Given the description of an element on the screen output the (x, y) to click on. 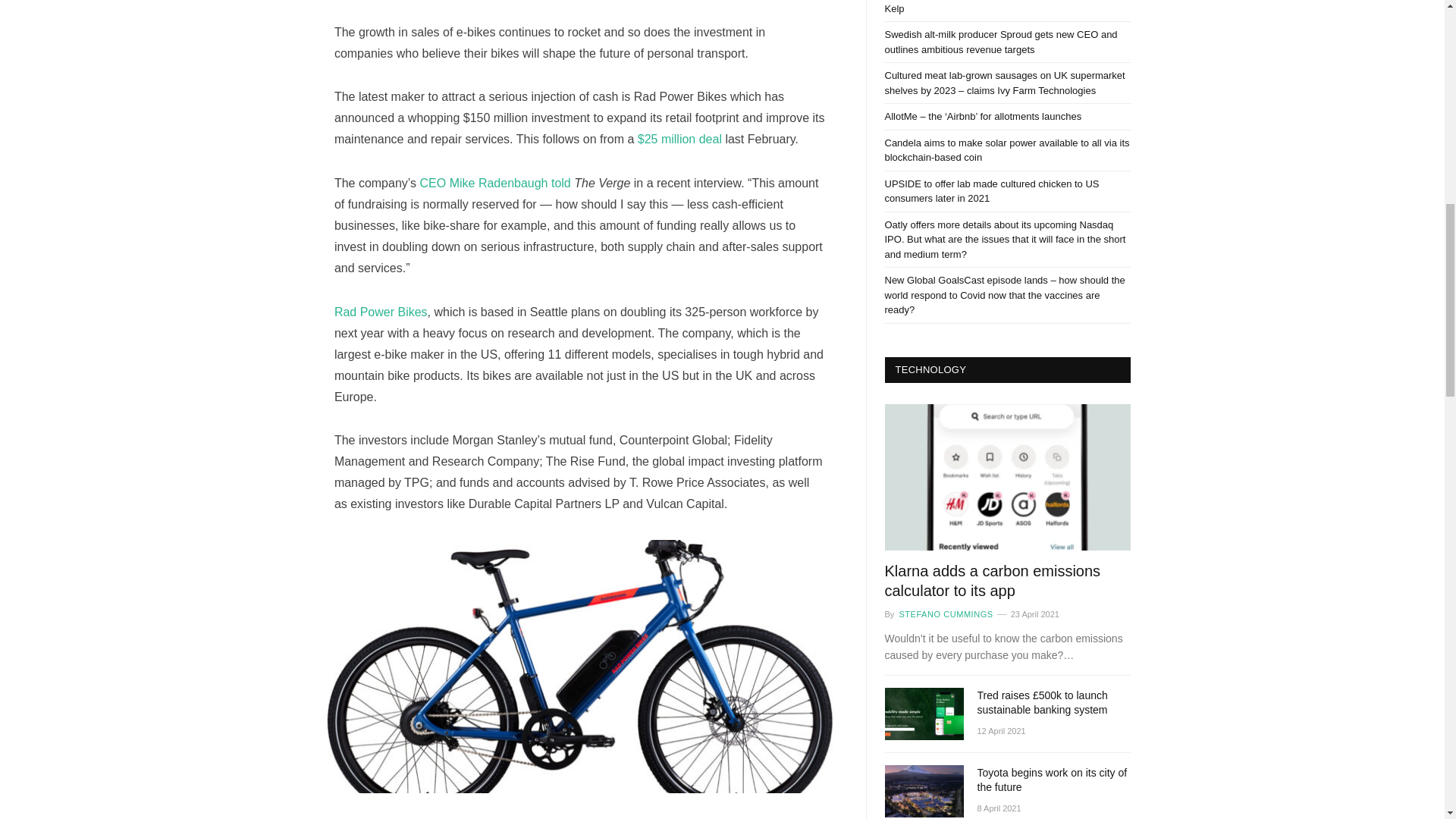
Rad Power Bikes (381, 311)
CEO Mike Radenbaugh told (497, 182)
